Given the description of an element on the screen output the (x, y) to click on. 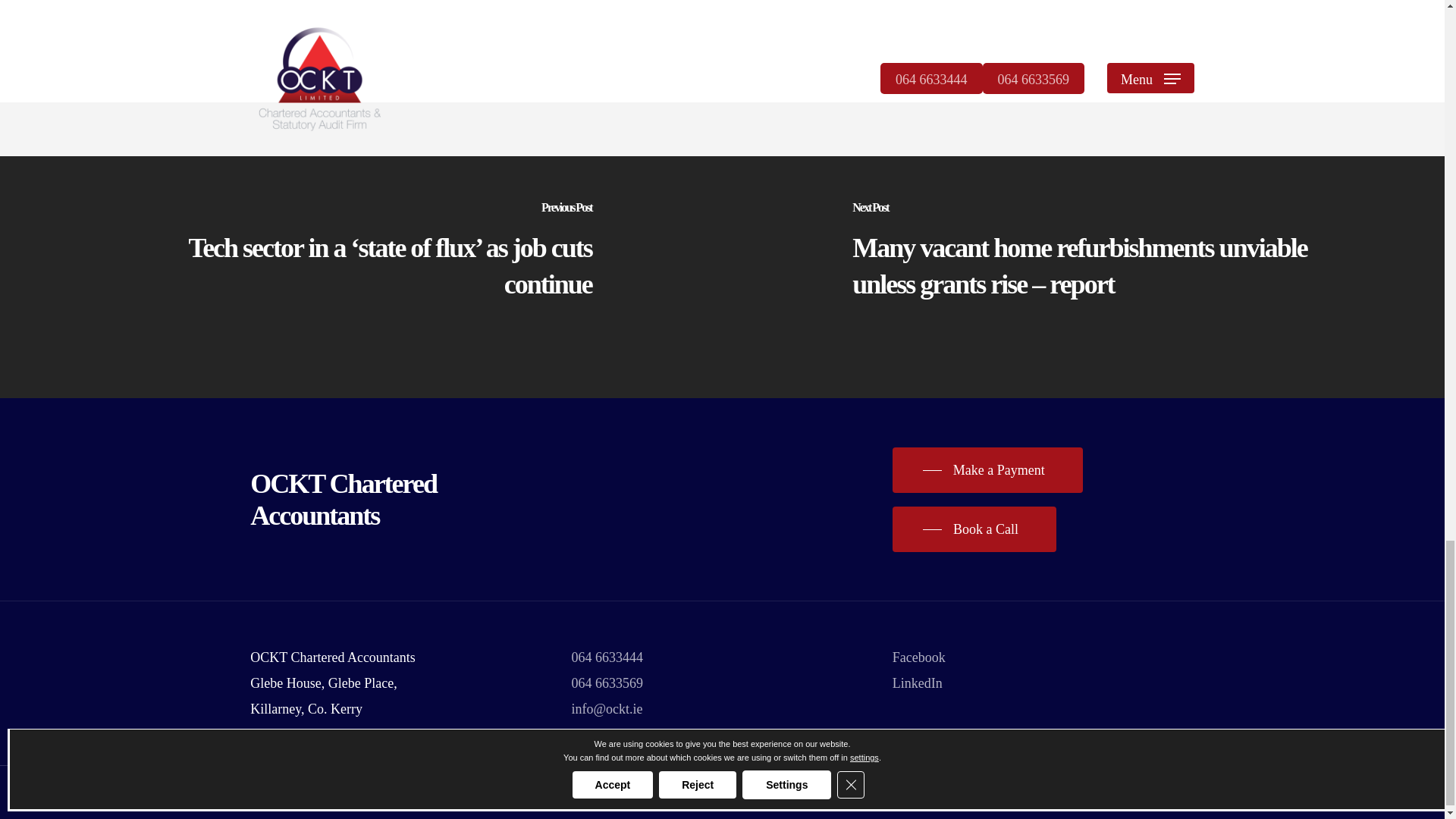
Make a Payment (987, 470)
Facebook (918, 657)
064 6633444 (607, 657)
Terms (507, 795)
Book a Call (974, 529)
Privacy (459, 795)
064 6633569 (607, 683)
LinkedIn (917, 683)
Practice Hook (635, 795)
Cookies (557, 795)
